Given the description of an element on the screen output the (x, y) to click on. 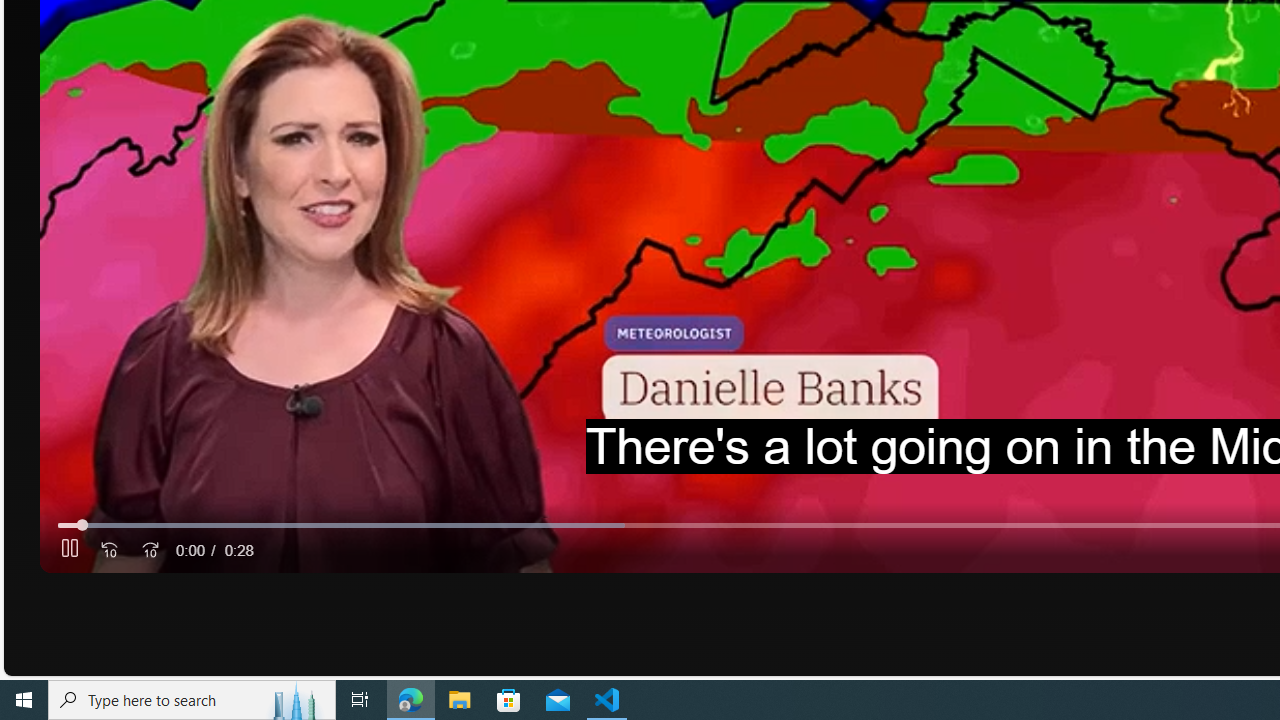
Seek Back (109, 550)
Pause (69, 550)
Seek Forward (150, 550)
